Given the description of an element on the screen output the (x, y) to click on. 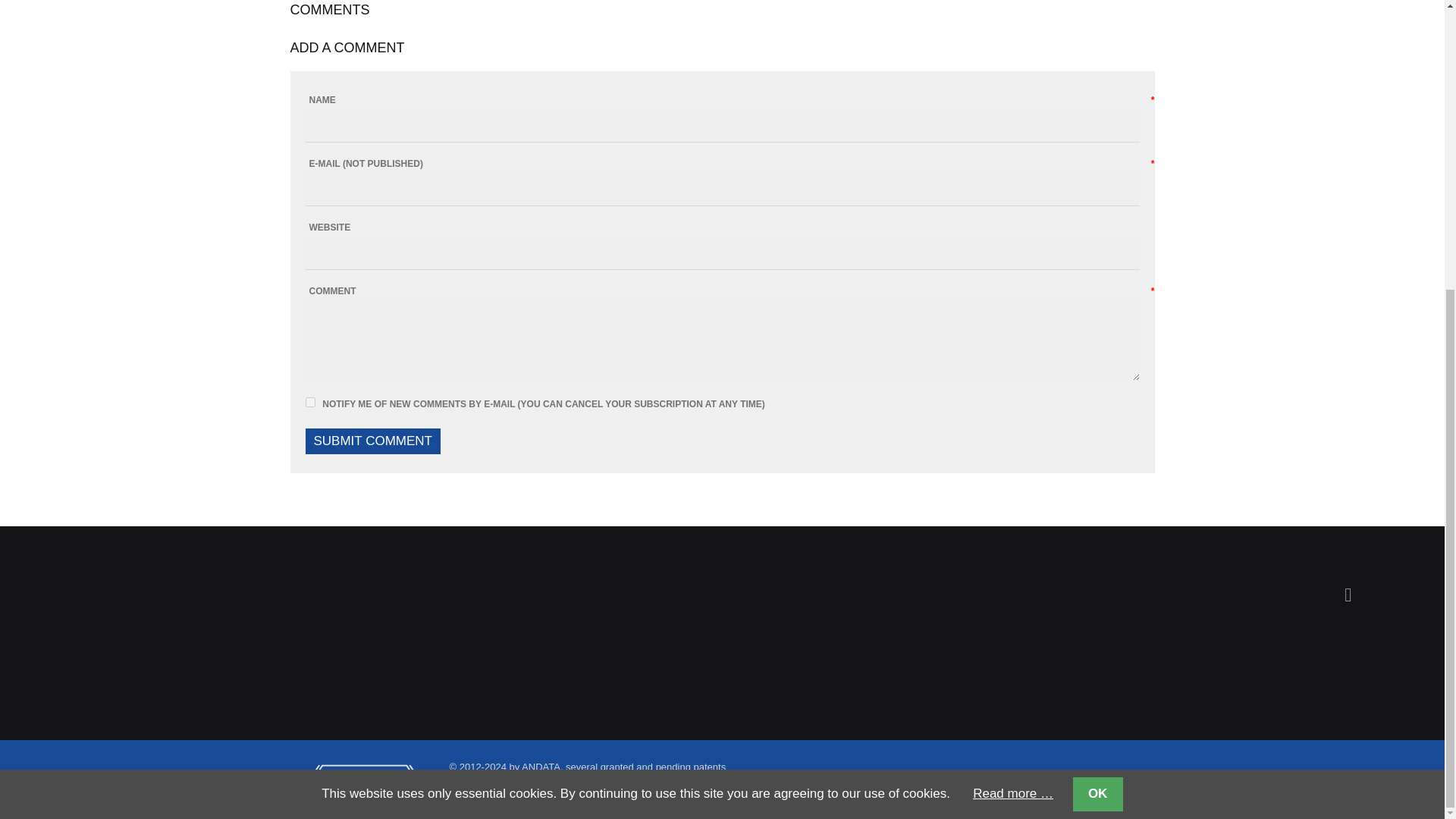
SUBMIT COMMENT (371, 441)
1 (309, 402)
OK (1096, 354)
